Given the description of an element on the screen output the (x, y) to click on. 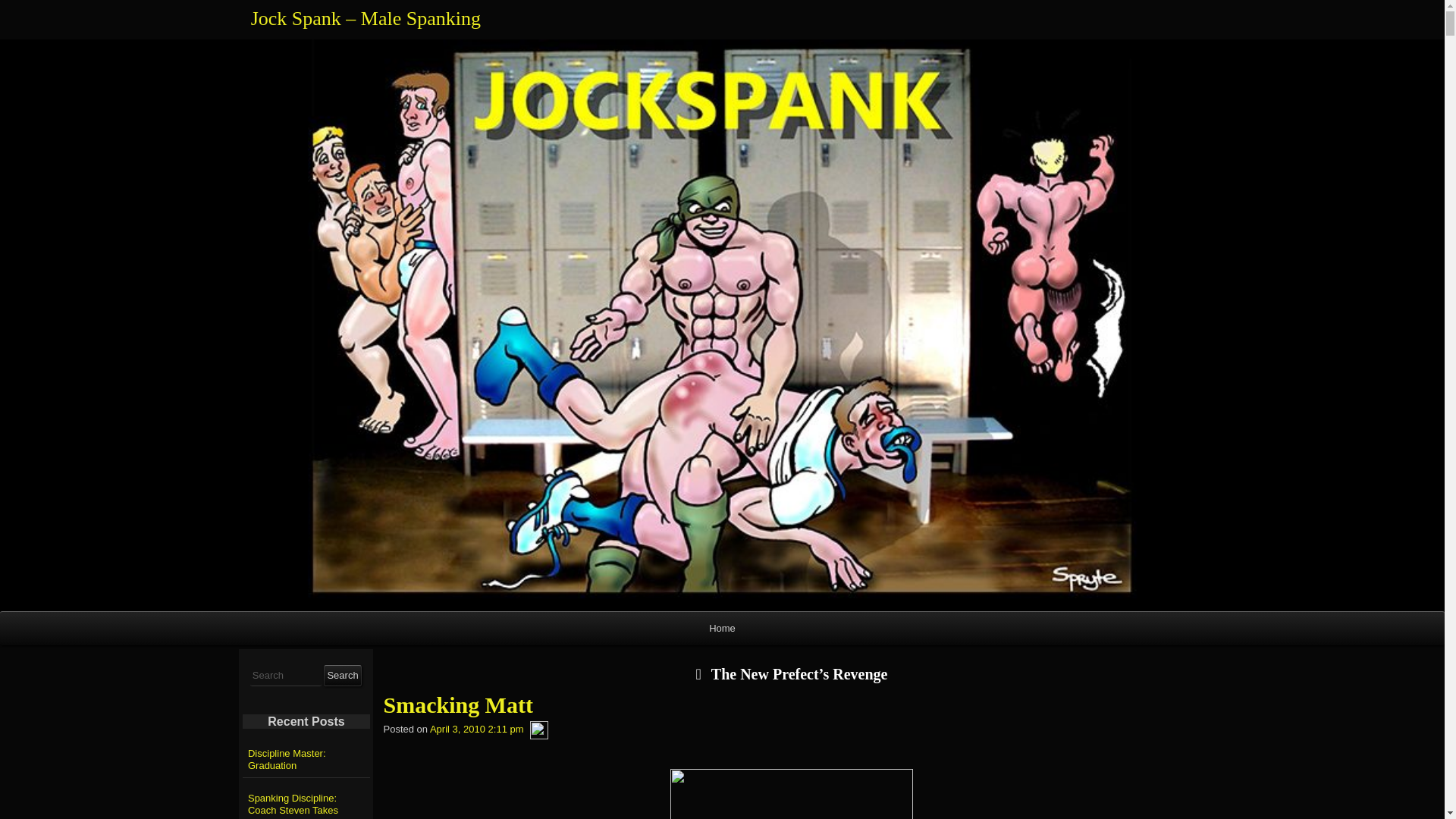
Ward (538, 729)
Search (342, 675)
Smacking Matt (791, 705)
April 3, 2010 2:11 pm (476, 729)
Home (721, 628)
